Given the description of an element on the screen output the (x, y) to click on. 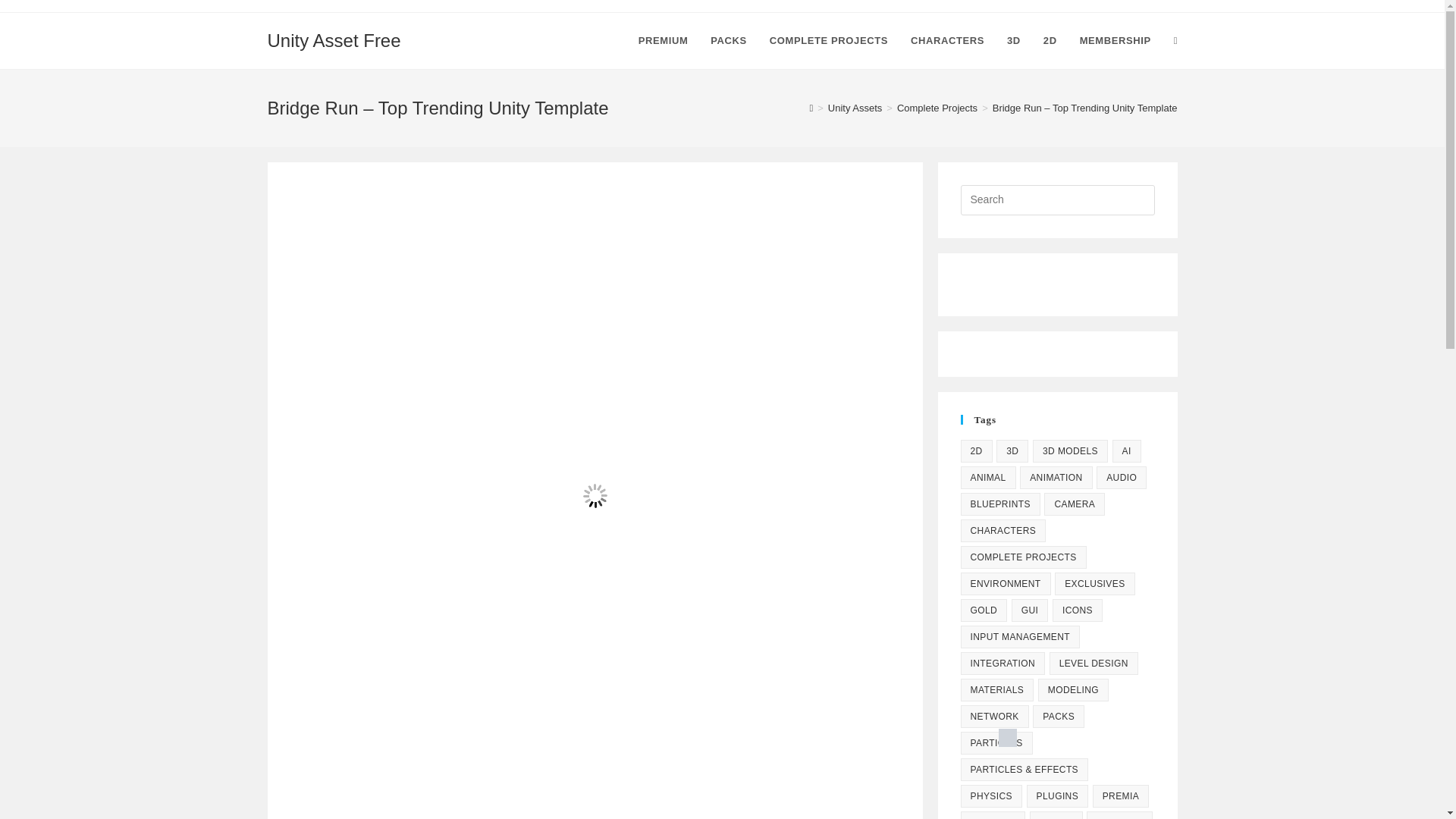
Unity Asset Free (333, 40)
Unity Assets (855, 107)
2D (975, 450)
CHARACTERS (947, 40)
COMPLETE PROJECTS (828, 40)
MEMBERSHIP (1114, 40)
PACKS (728, 40)
PREMIUM (663, 40)
Complete Projects (936, 107)
